Given the description of an element on the screen output the (x, y) to click on. 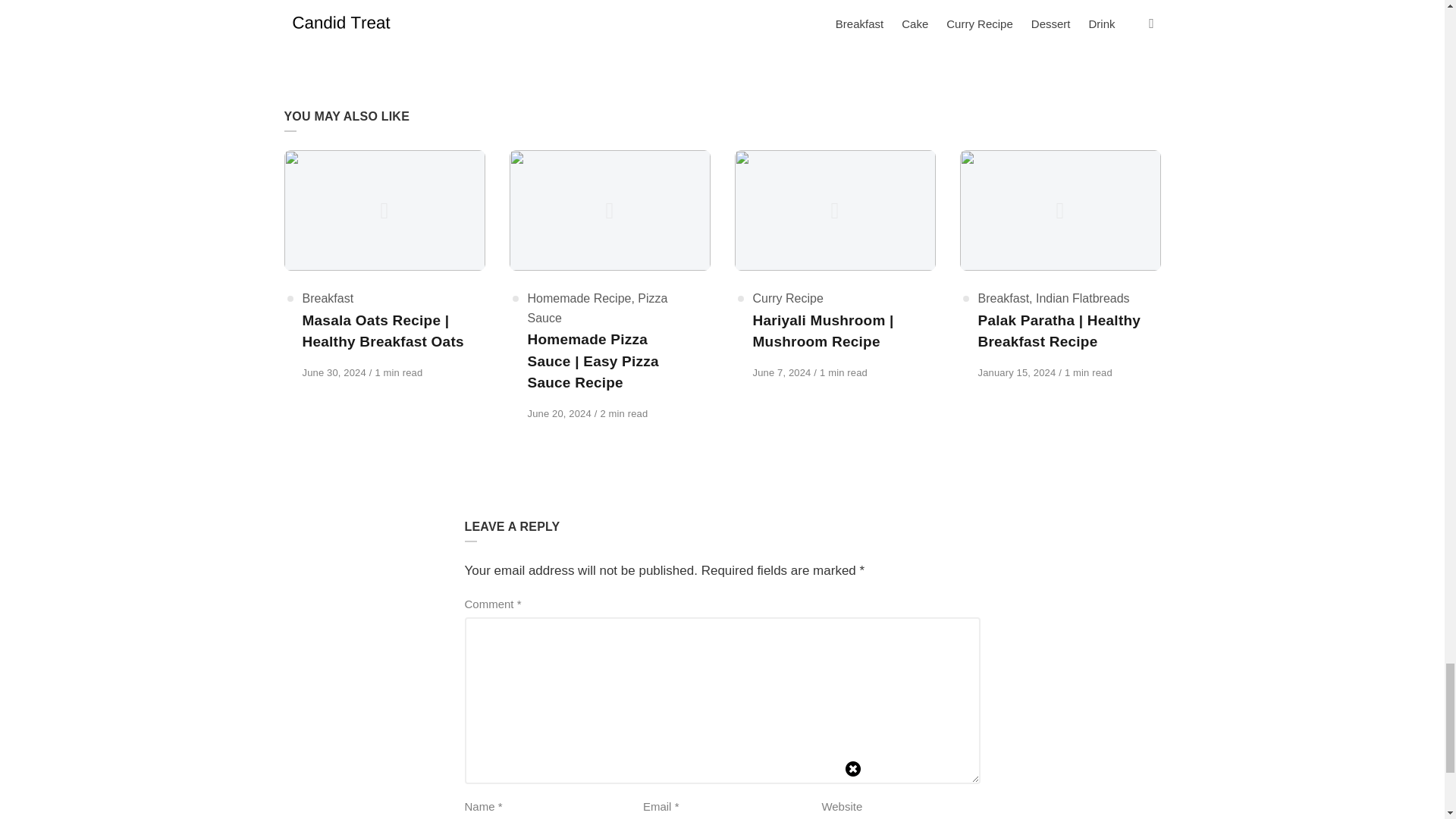
Breakfast (438, 0)
June 7, 2024 (327, 297)
June 30, 2024 (782, 372)
June 20, 2024 (334, 372)
June 30, 2024 (560, 413)
January 15, 2024 (334, 372)
